Given the description of an element on the screen output the (x, y) to click on. 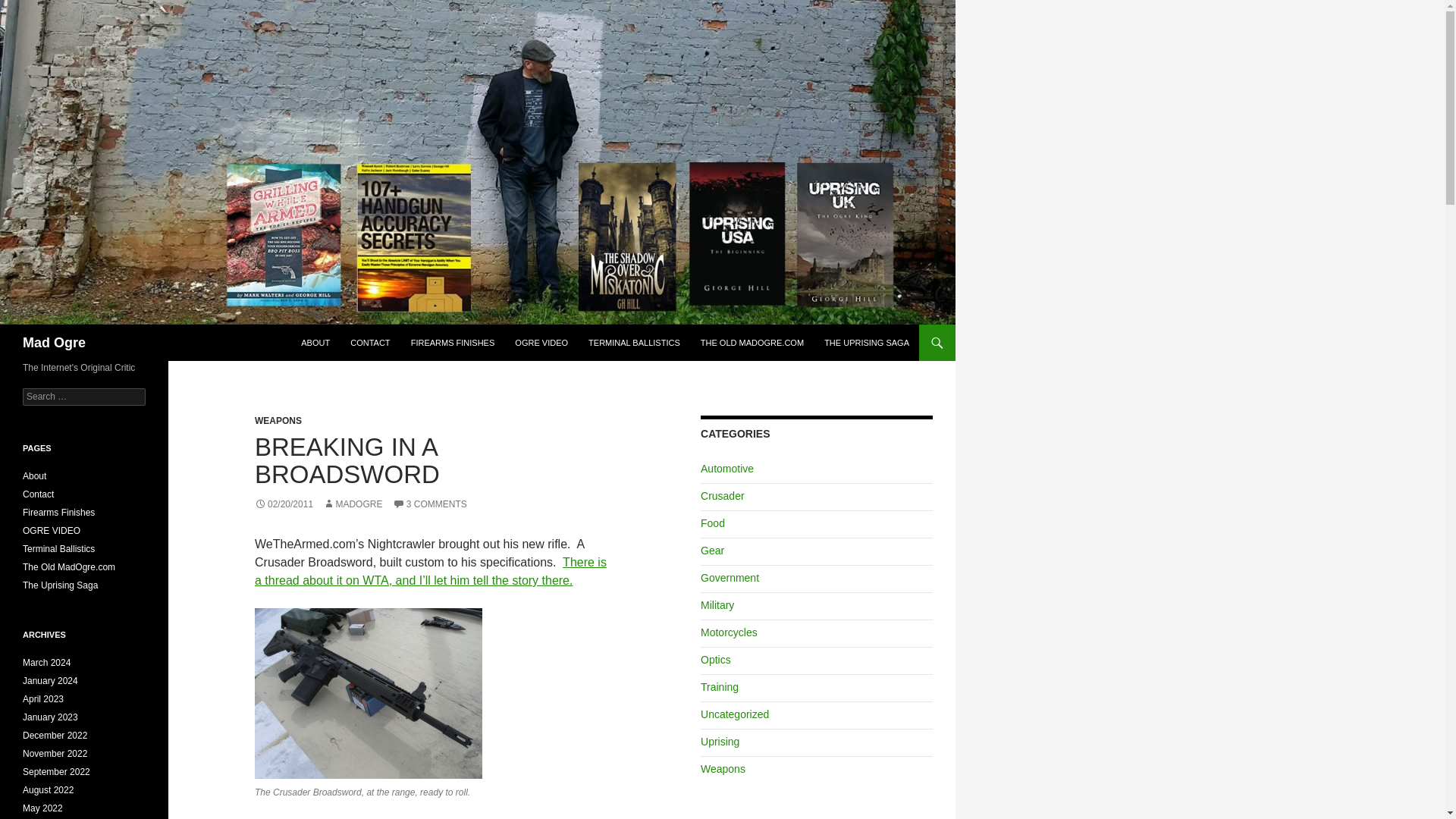
Mad Ogre (54, 342)
3 COMMENTS (430, 503)
CONTACT (369, 342)
FIREARMS FINISHES (452, 342)
OGRE VIDEO (540, 342)
THE UPRISING SAGA (866, 342)
THE OLD MADOGRE.COM (751, 342)
WEAPONS (277, 420)
TERMINAL BALLISTICS (633, 342)
MADOGRE (352, 503)
ABOUT (315, 342)
